Given the description of an element on the screen output the (x, y) to click on. 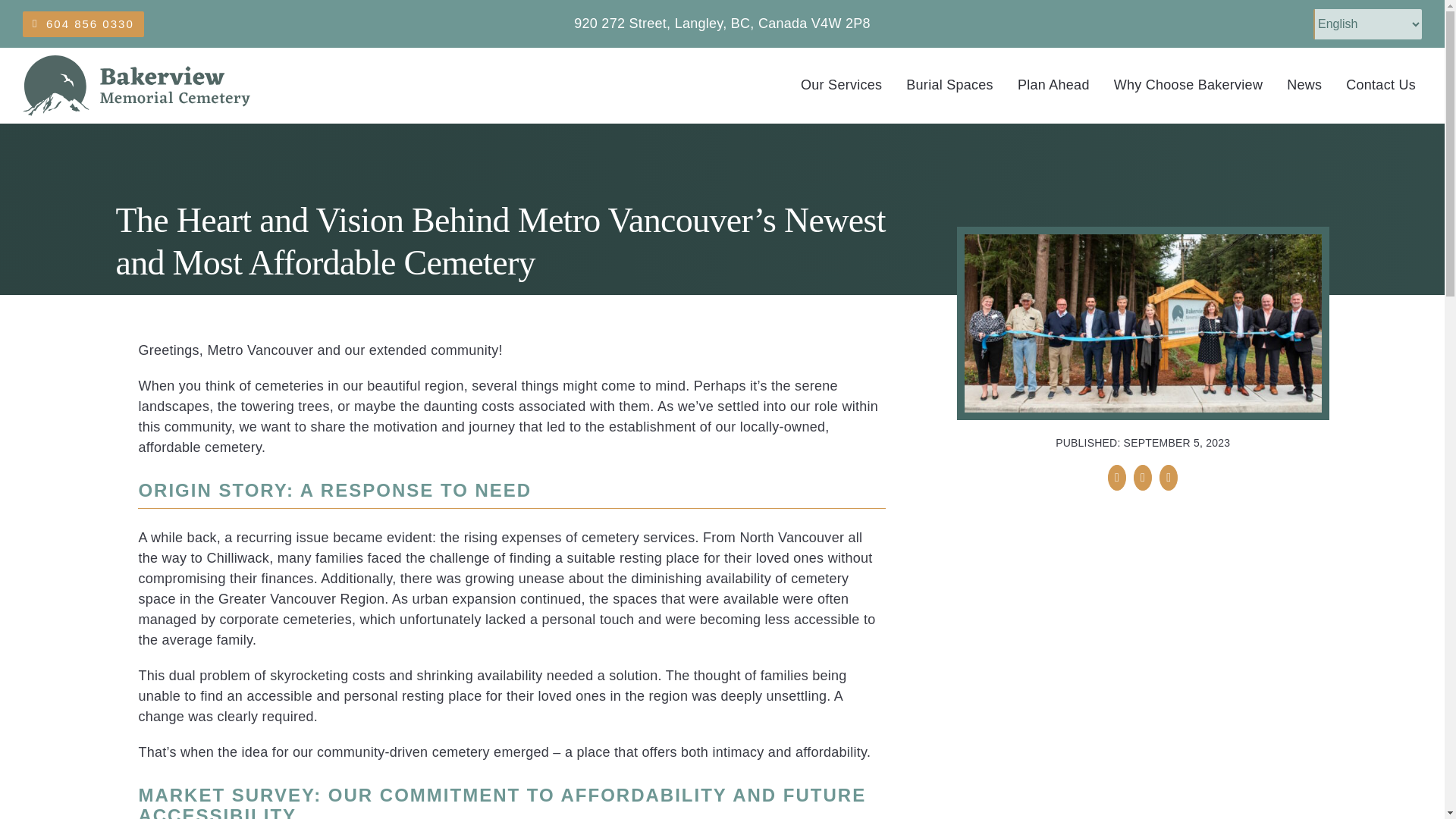
Burial Spaces (948, 85)
News (1304, 85)
Our Services (841, 85)
Why Choose Bakerview (1188, 85)
Contact Us (1380, 85)
Plan Ahead (1053, 85)
bakerview-ribbon-cutting (1142, 323)
604 856 0330 (83, 23)
